Given the description of an element on the screen output the (x, y) to click on. 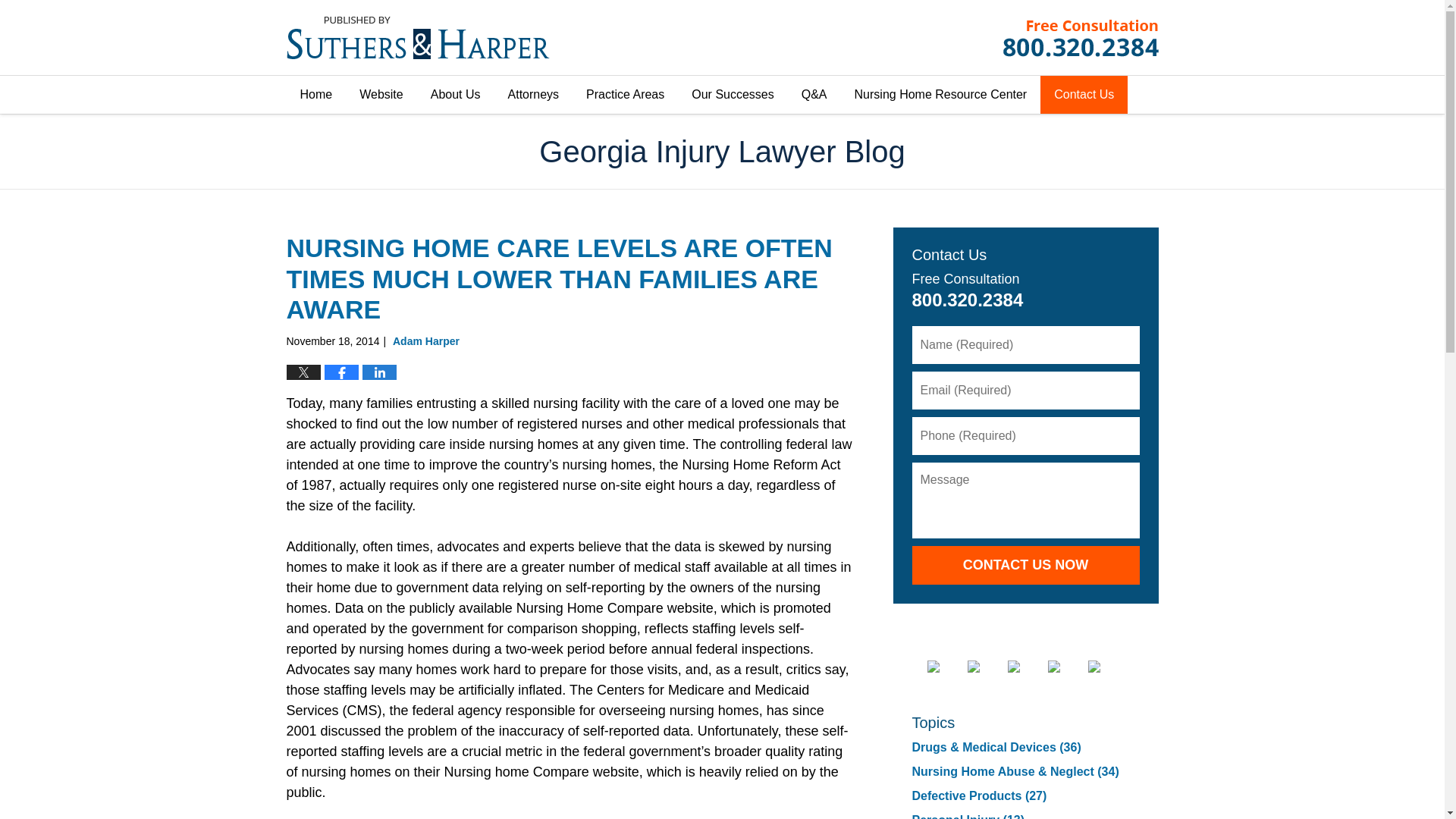
Adam Harper (426, 340)
Website (381, 94)
Twitter (986, 666)
Please enter a valid phone number. (1024, 435)
Practice Areas (625, 94)
Nursing Home Resource Center (941, 94)
Facebook (944, 666)
About Us (455, 94)
CONTACT US NOW (1024, 565)
LinkedIn (1025, 666)
